Given the description of an element on the screen output the (x, y) to click on. 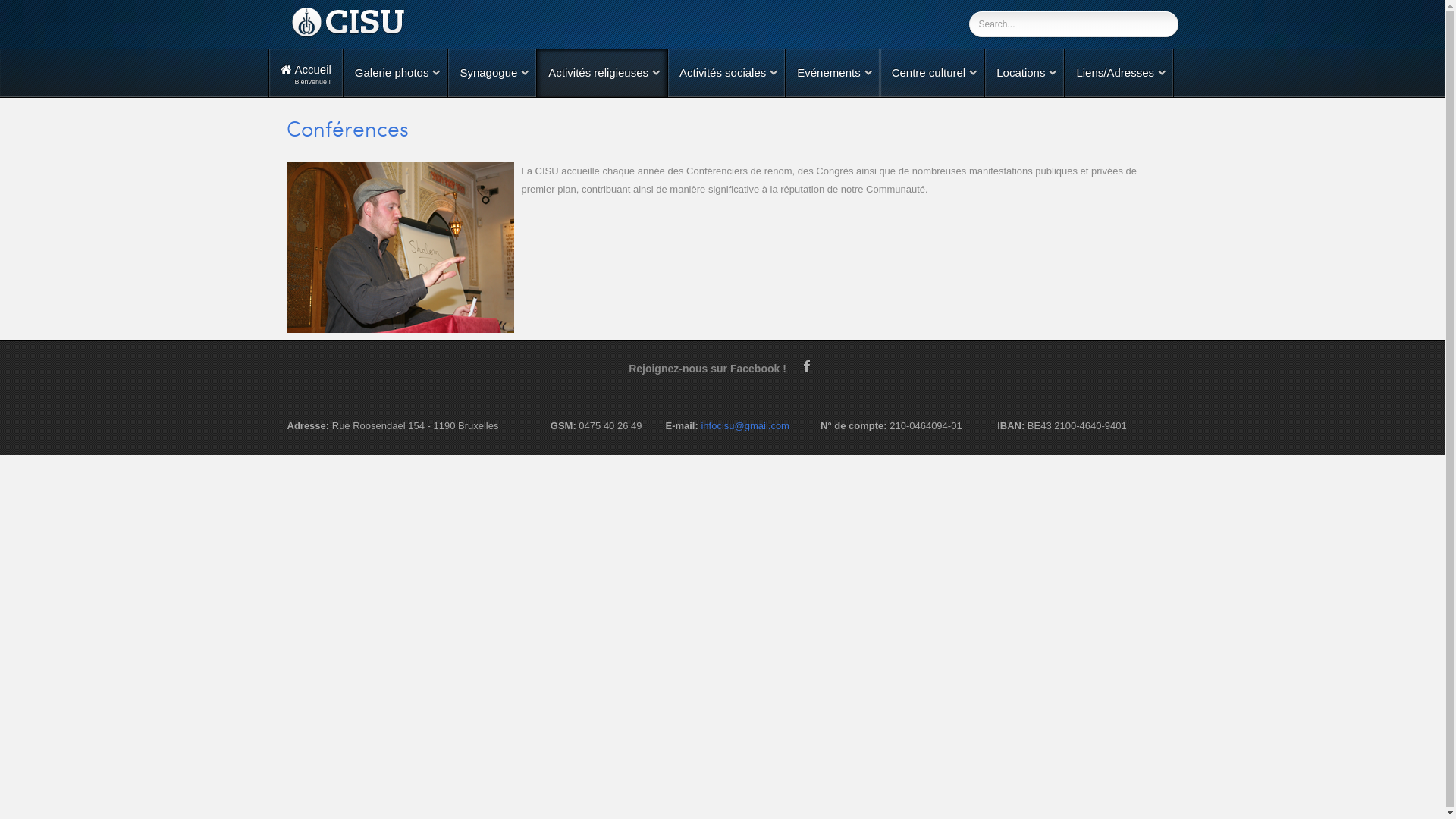
Locations Element type: text (1024, 72)
Accueil
Bienvenue ! Element type: text (305, 72)
Synagogue Element type: text (492, 72)
Galerie photos Element type: text (395, 72)
infocisu@gmail.com Element type: text (744, 425)
Rejoignez-nous sur Facebook ! Element type: text (712, 368)
Centre culturel Element type: text (932, 72)
Liens/Adresses Element type: text (1118, 72)
